Given the description of an element on the screen output the (x, y) to click on. 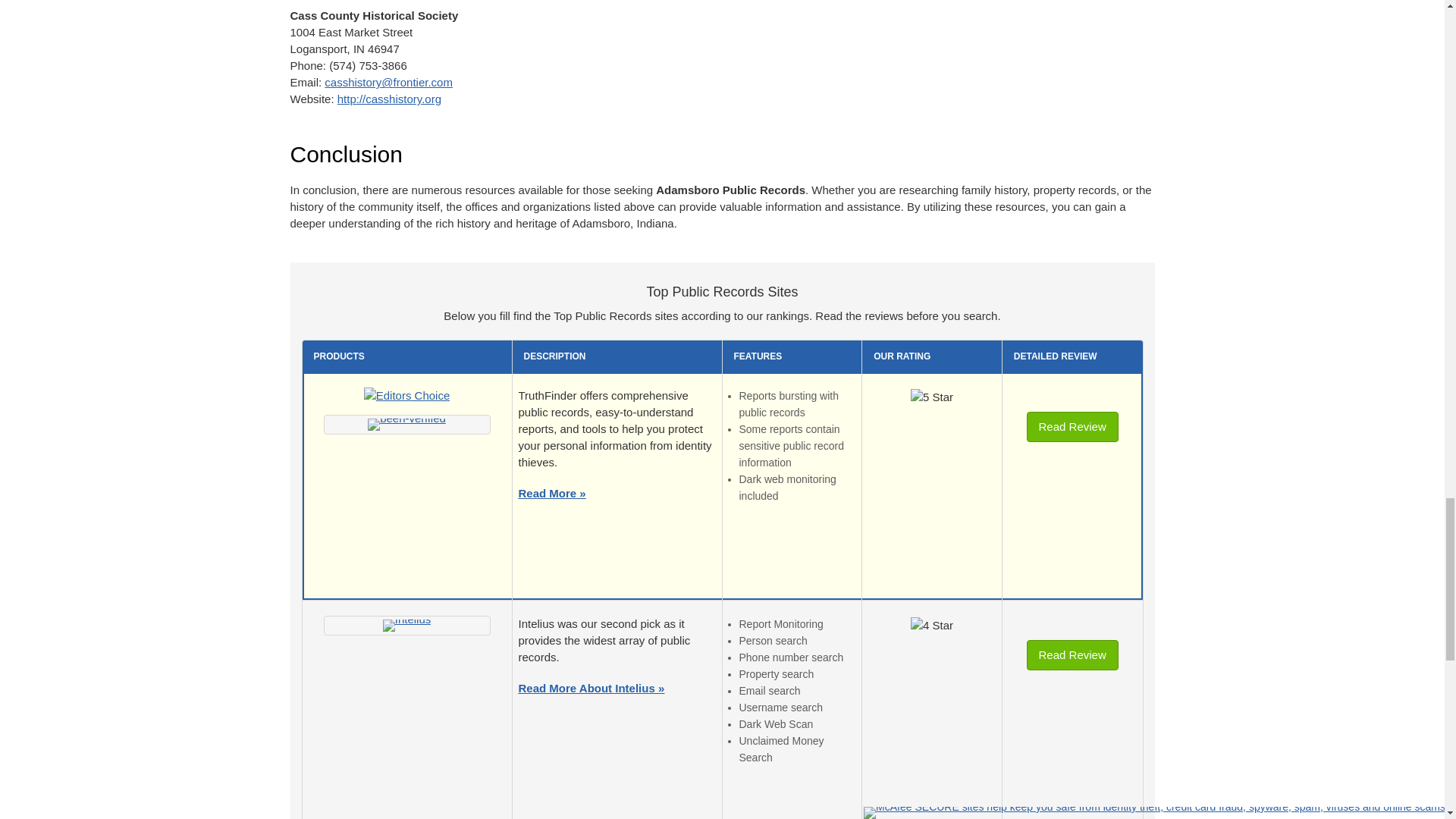
Editors Choice (406, 399)
TruthFinder (406, 424)
Intelius (406, 625)
